Given the description of an element on the screen output the (x, y) to click on. 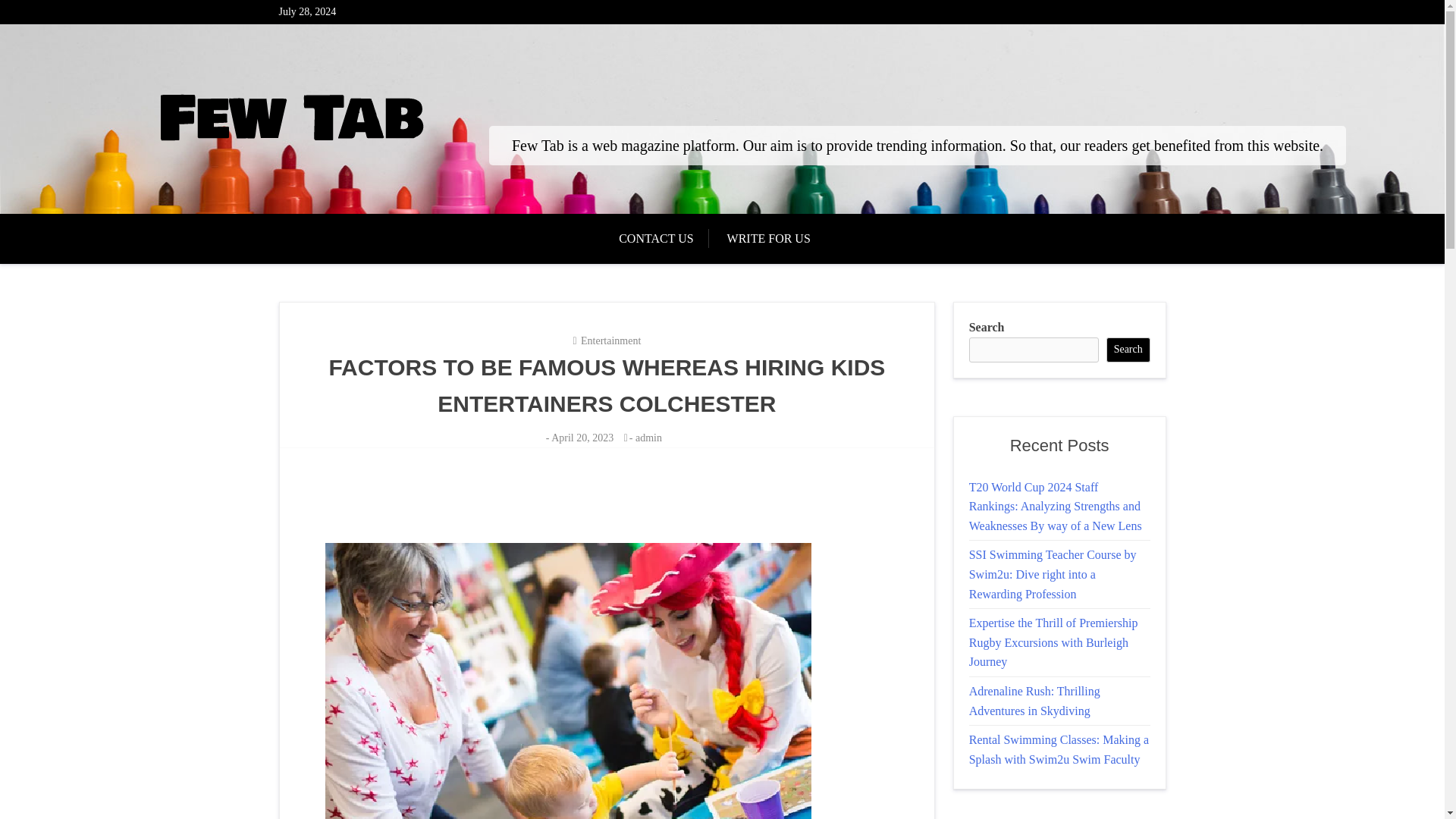
April 20, 2023 (581, 437)
Search (1128, 350)
WRITE FOR US (768, 238)
Adrenaline Rush: Thrilling Adventures in Skydiving (1034, 700)
admin (648, 437)
CONTACT US (662, 238)
Entertainment (610, 340)
